Given the description of an element on the screen output the (x, y) to click on. 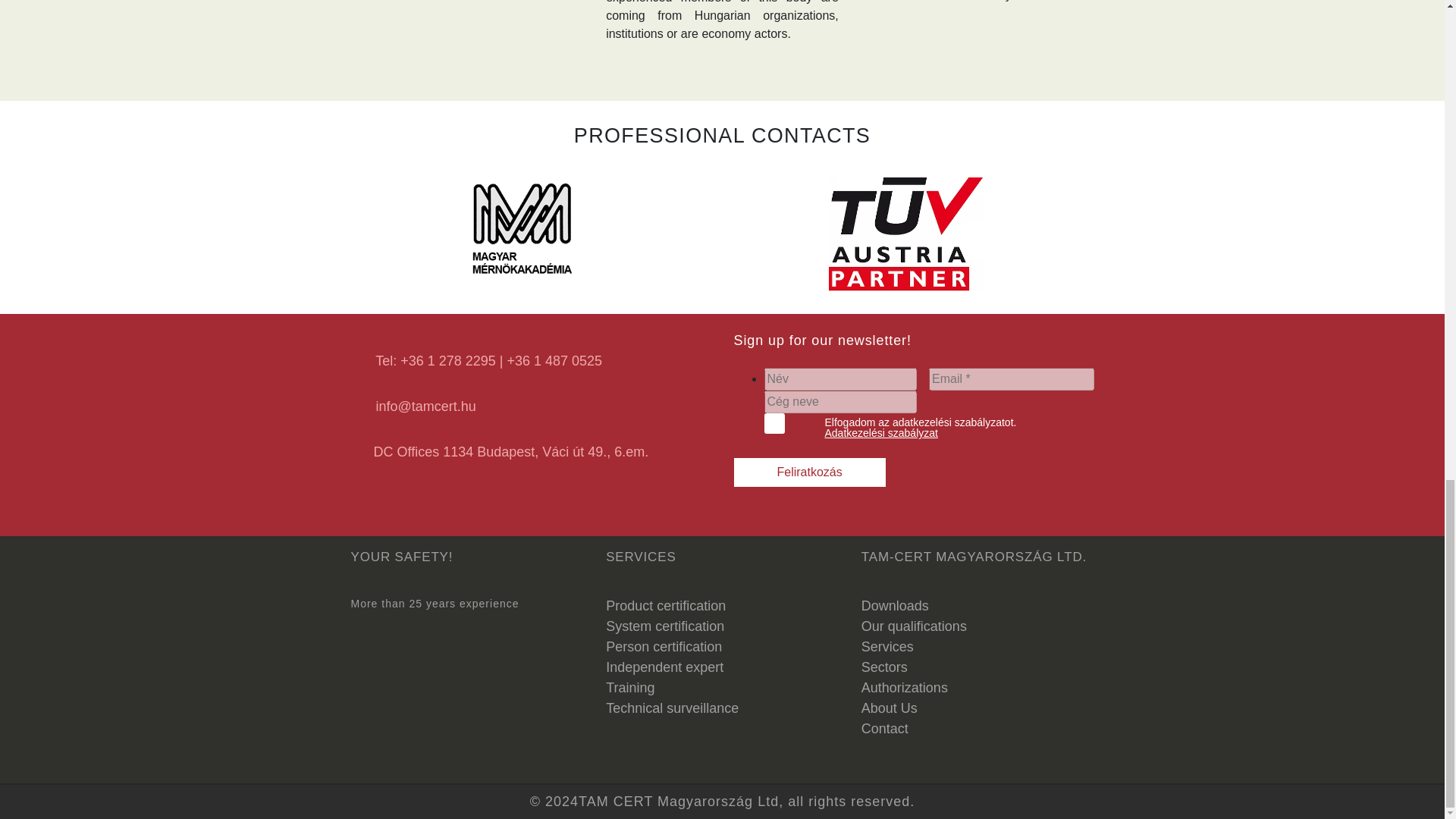
Training (629, 687)
Independent expert (664, 667)
Person certification (663, 646)
Product certification (665, 605)
System certification (664, 626)
